Given the description of an element on the screen output the (x, y) to click on. 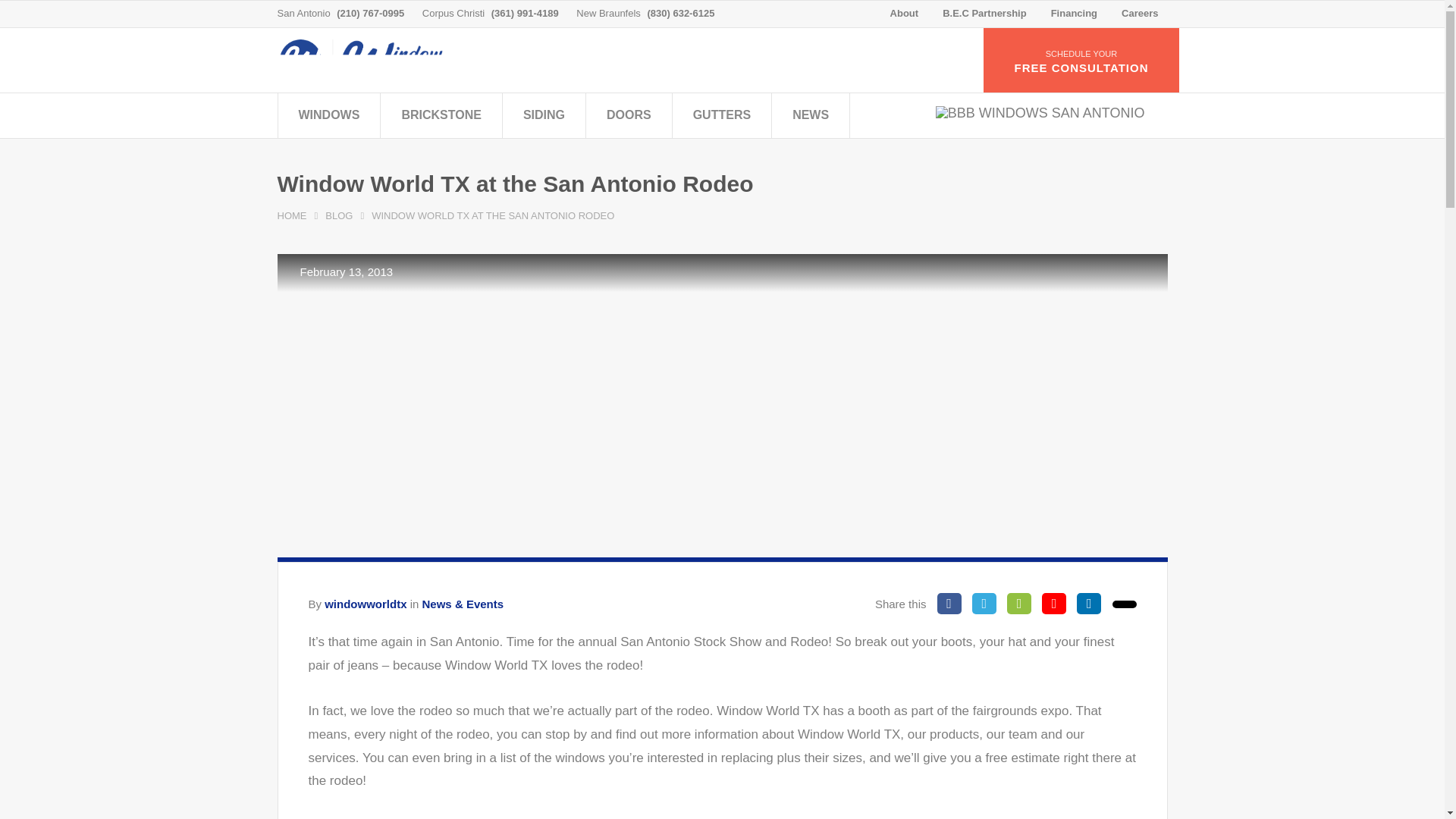
San Antonio (304, 13)
B.E.C Partnership (984, 12)
Financing (1074, 12)
Window World TX (374, 60)
New Braunfels (608, 13)
Corpus Christi (453, 13)
Careers (1139, 12)
About (904, 12)
